Given the description of an element on the screen output the (x, y) to click on. 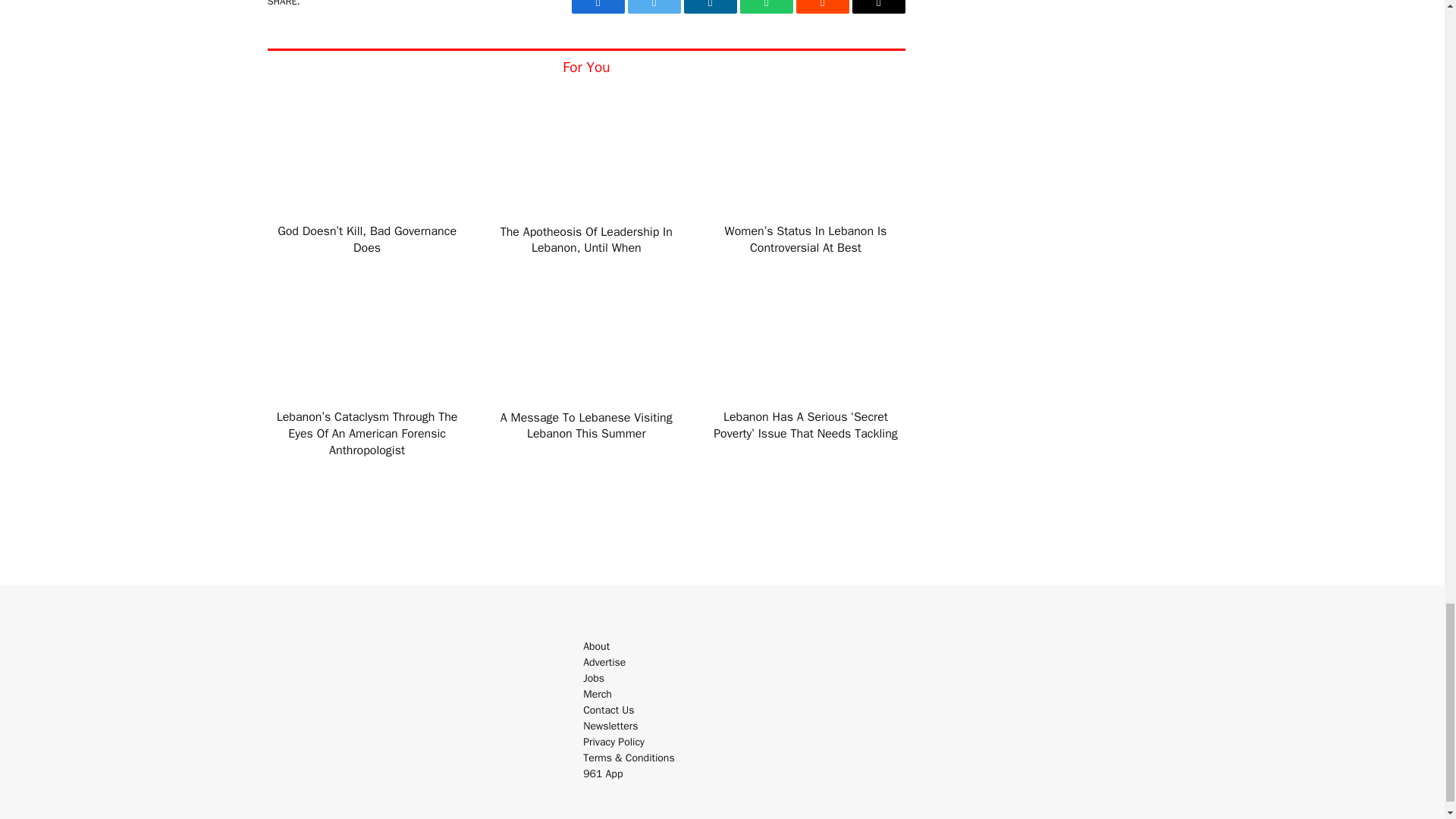
Share on WhatsApp (766, 6)
Twitter (654, 6)
Share on LinkedIn (710, 6)
Email (878, 6)
Facebook (598, 6)
Share on Reddit (822, 6)
The Apotheosis Of Leadership In Lebanon, Until When (585, 240)
Reddit (822, 6)
Share on Facebook (598, 6)
LinkedIn (710, 6)
